Given the description of an element on the screen output the (x, y) to click on. 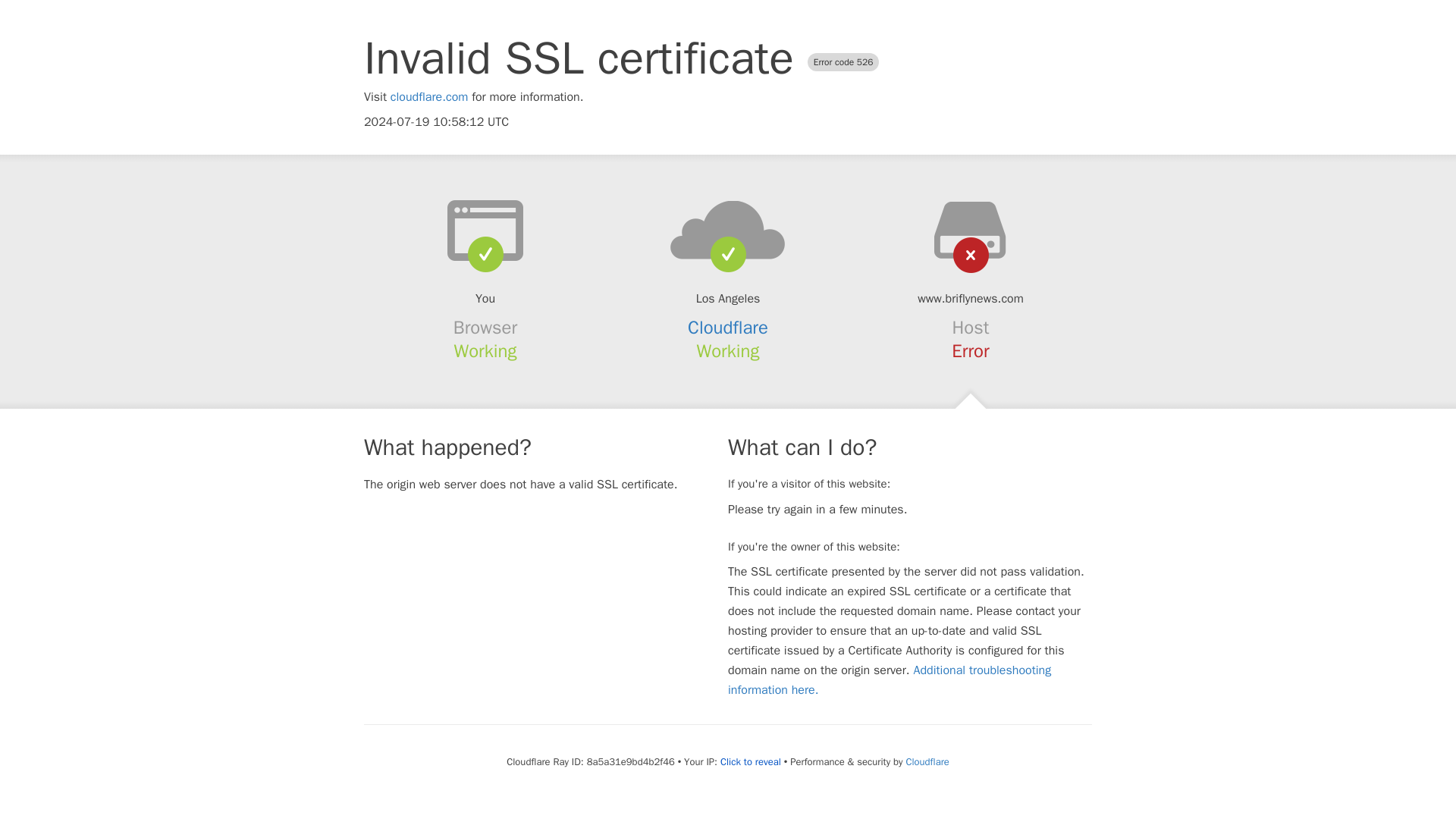
Cloudflare (727, 327)
Additional troubleshooting information here. (889, 679)
cloudflare.com (429, 96)
Cloudflare (927, 761)
Click to reveal (750, 762)
